Given the description of an element on the screen output the (x, y) to click on. 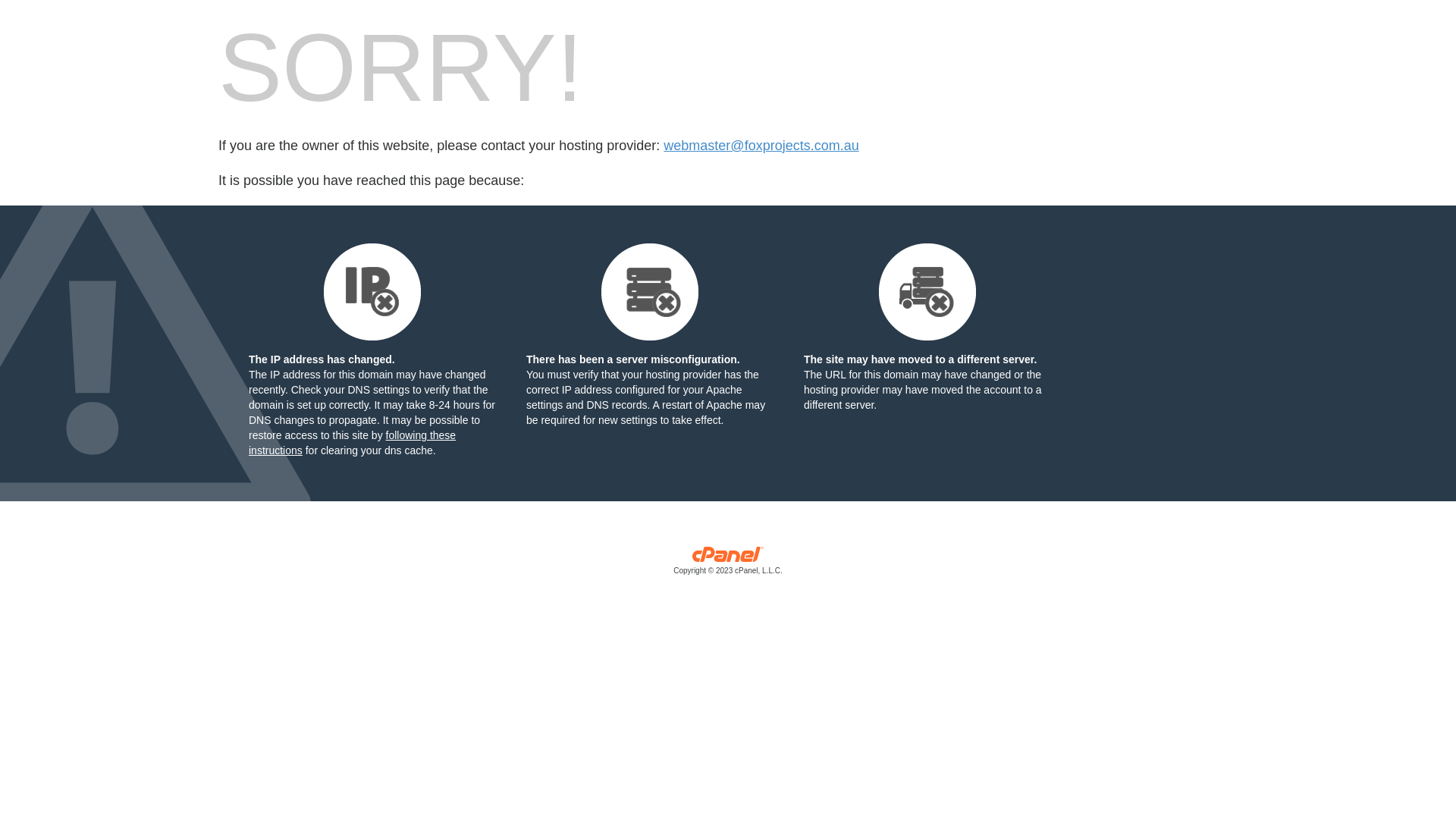
webmaster@foxprojects.com.au Element type: text (760, 145)
following these instructions Element type: text (351, 442)
